Given the description of an element on the screen output the (x, y) to click on. 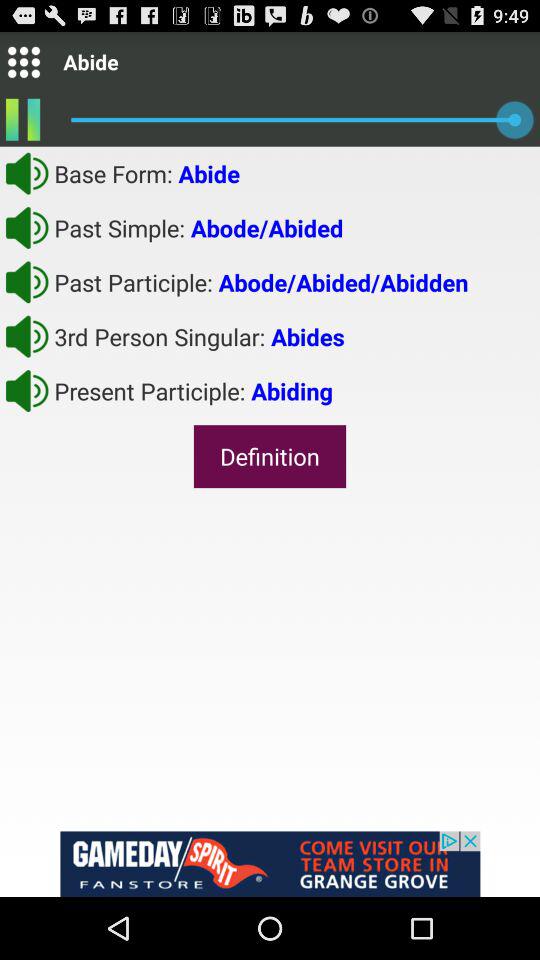
volume symbol (27, 227)
